Given the description of an element on the screen output the (x, y) to click on. 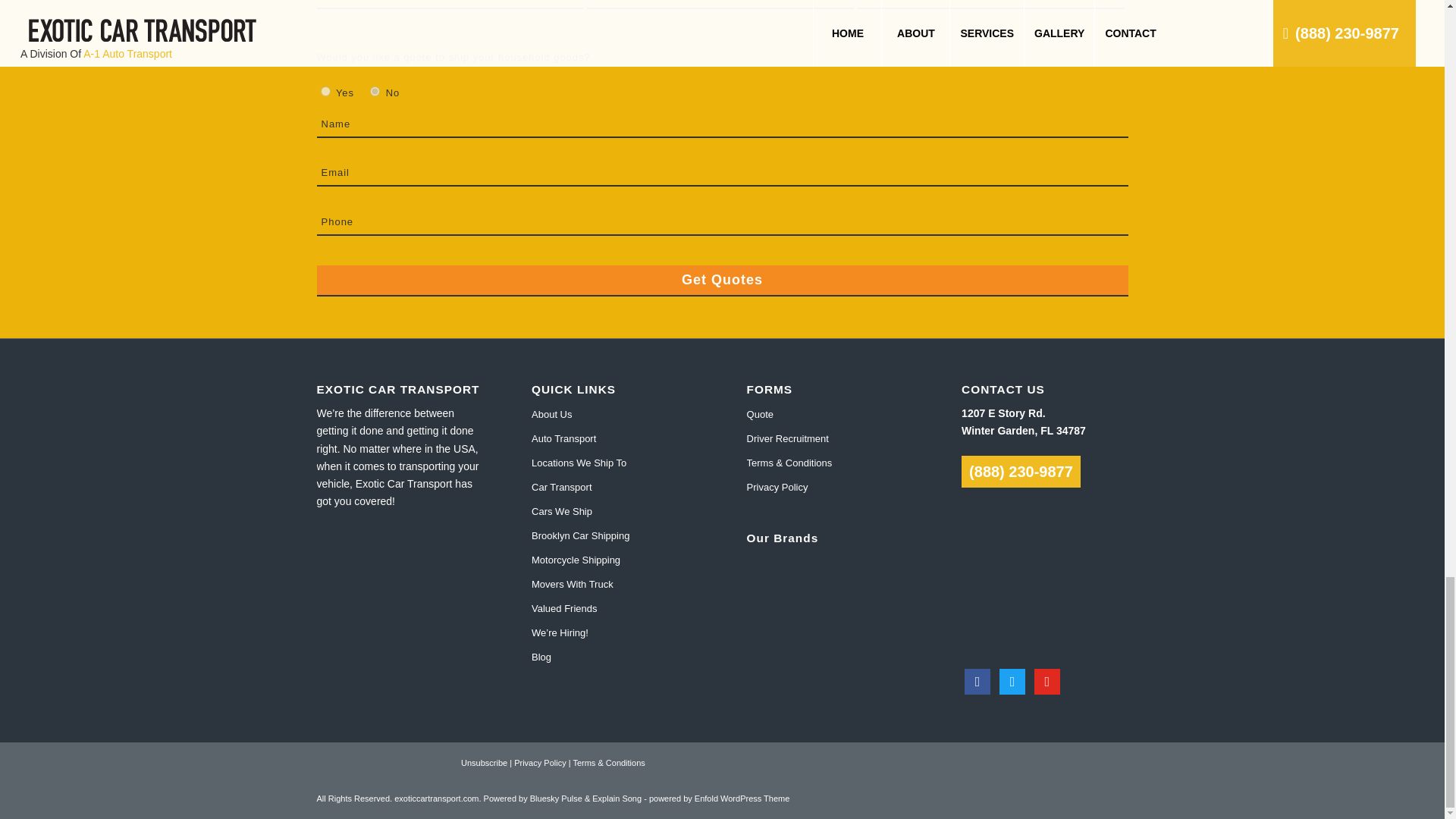
Yes (325, 91)
Auto Transport (614, 438)
Get Quotes (722, 280)
Locations We Ship To (614, 463)
About Us (614, 413)
Twitter (1011, 680)
Cars We Ship (614, 511)
Car Transport (614, 487)
Get Quotes (722, 280)
No (374, 91)
Facebook (976, 680)
